Given the description of an element on the screen output the (x, y) to click on. 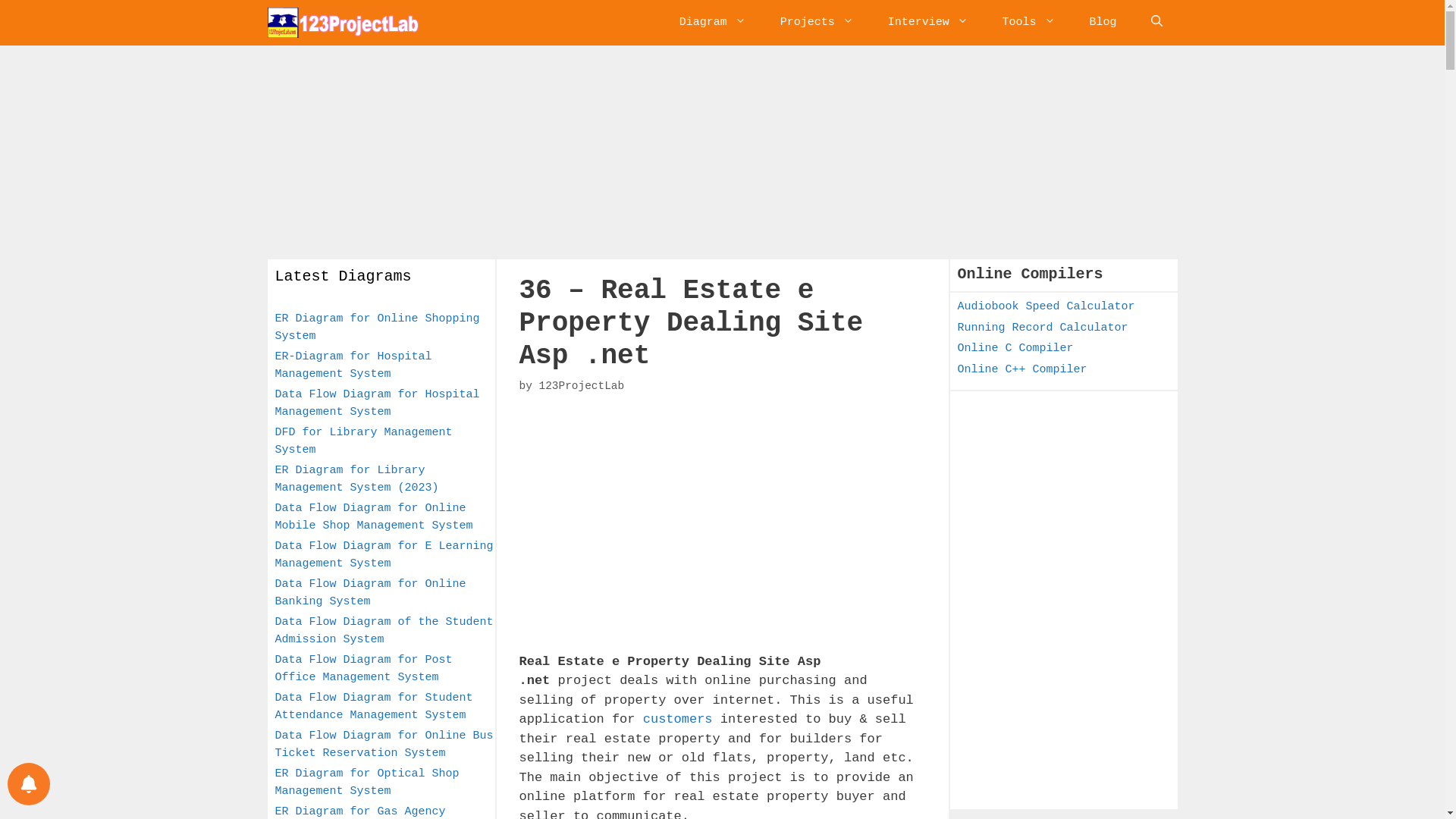
123ProjectLab Element type: text (581, 385)
Online C Compiler Element type: text (1015, 348)
Audiobook Speed Calculator Element type: text (1045, 306)
Advertisement Element type: hover (717, 520)
Data Flow Diagram of the Student Admission System Element type: text (383, 630)
ER Diagram for Optical Shop Management System Element type: text (366, 782)
Running Record Calculator Element type: text (1042, 327)
Blog Element type: text (1103, 22)
Data Flow Diagram for Online Bus Ticket Reservation System Element type: text (383, 744)
123projectlab.com Element type: hover (342, 22)
Online C++ Compiler Element type: text (1021, 368)
ER Diagram for Library Management System (2023) Element type: text (356, 479)
Notifications preferences Element type: hover (28, 783)
Data Flow Diagram for Online Mobile Shop Management System Element type: text (373, 517)
Advertisement Element type: hover (1070, 498)
ER-Diagram for Hospital Management System Element type: text (352, 365)
customers Element type: text (677, 719)
Advertisement Element type: hover (721, 151)
123projectlab.com Element type: hover (346, 22)
Data Flow Diagram for Post Office Management System Element type: text (362, 668)
Data Flow Diagram for Online Banking System Element type: text (369, 592)
Data Flow Diagram for Student Attendance Management System Element type: text (373, 706)
Interview Element type: text (927, 22)
Projects Element type: text (817, 22)
Advertisement Element type: hover (1070, 693)
DFD for Library Management System Element type: text (362, 441)
Tools Element type: text (1028, 22)
Data Flow Diagram for E Learning Management System Element type: text (383, 554)
ER Diagram for Online Shopping System Element type: text (376, 327)
Data Flow Diagram for Hospital Management System Element type: text (376, 403)
Diagram Element type: text (712, 22)
